Given the description of an element on the screen output the (x, y) to click on. 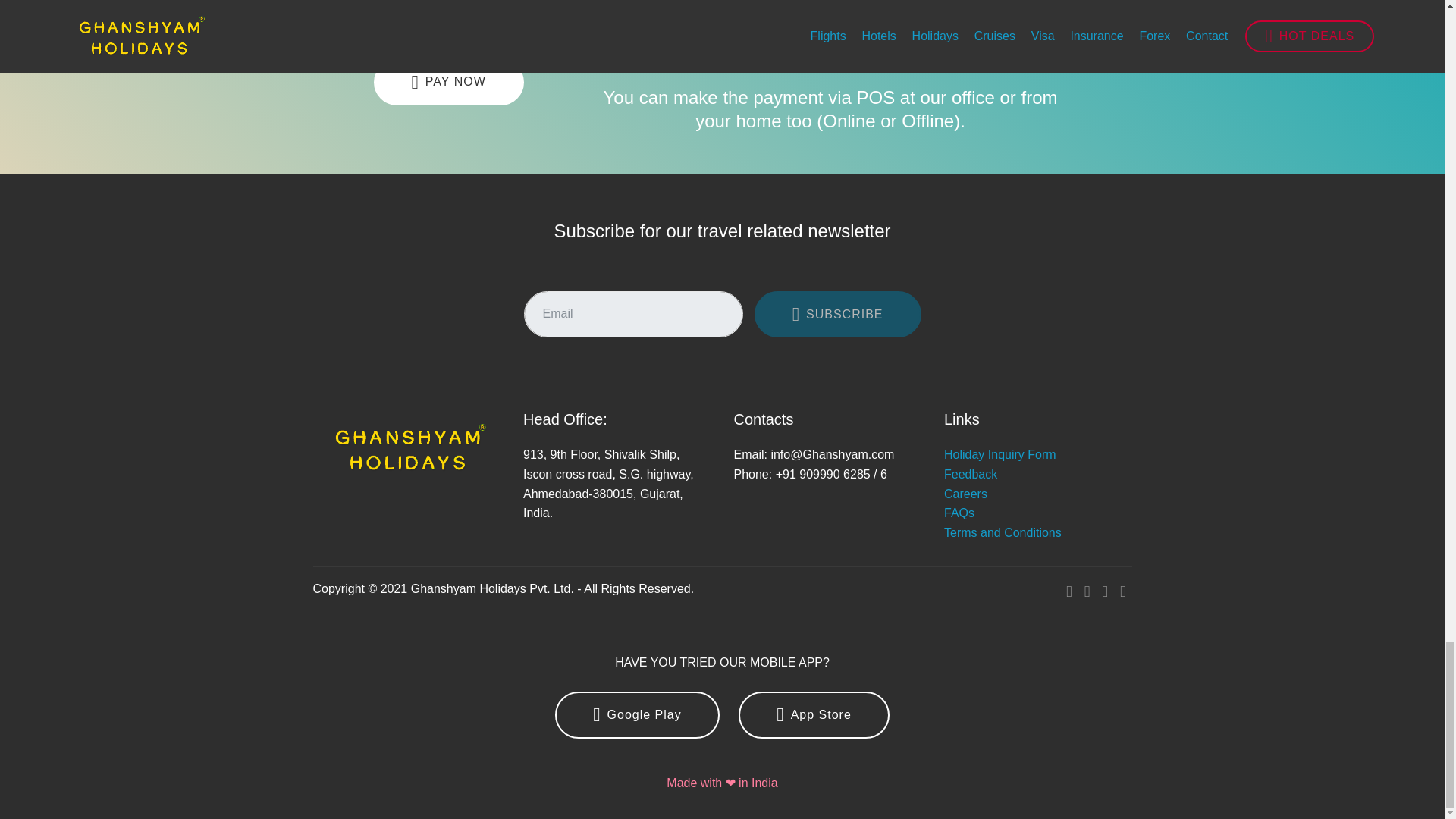
SUBSCRIBE (837, 314)
PAY NOW (447, 82)
Ghanshyam Holidays (410, 447)
